Given the description of an element on the screen output the (x, y) to click on. 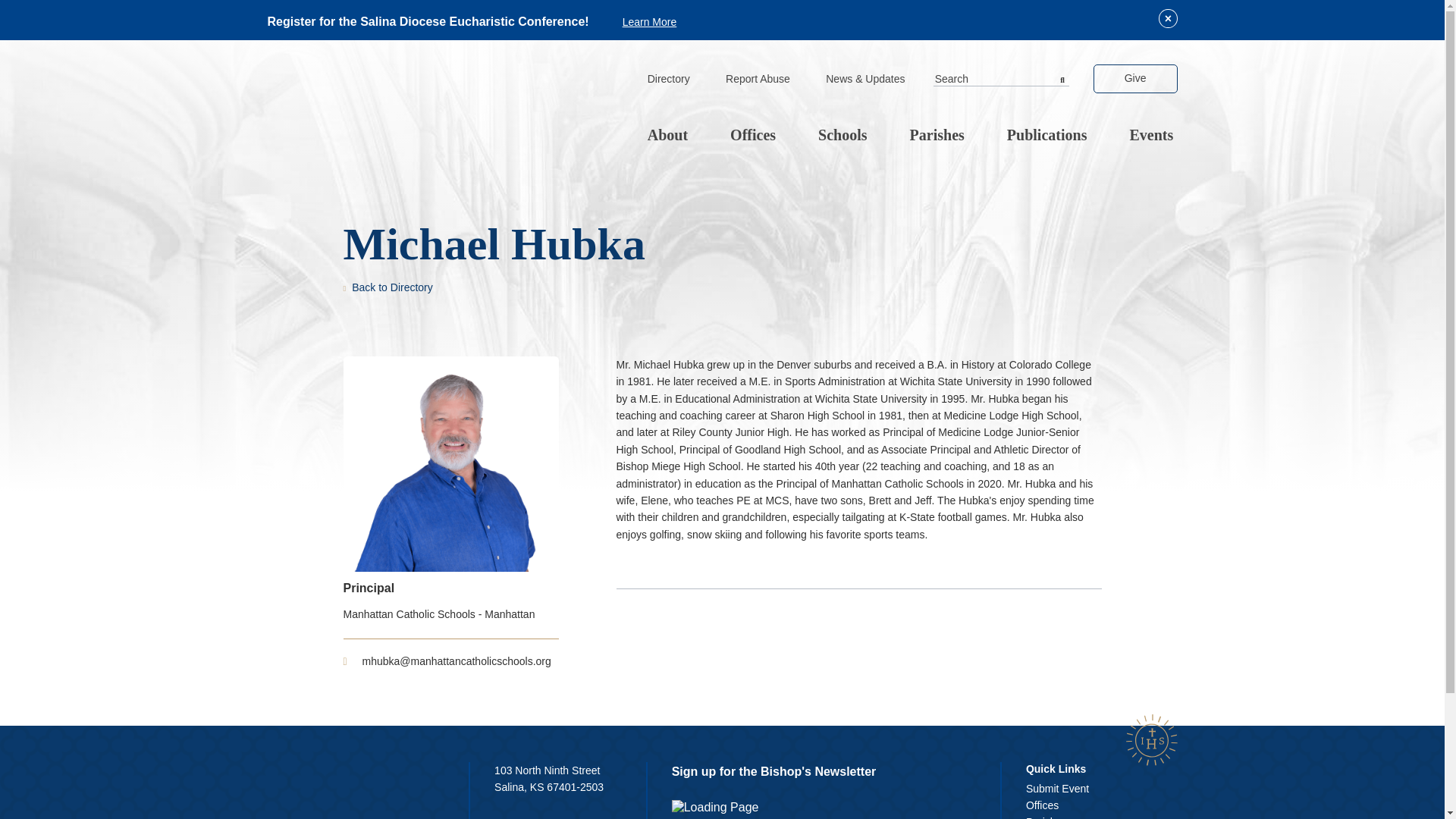
Report Abuse (757, 79)
Offices (752, 135)
Learn More (650, 21)
Give (1135, 78)
Directory (668, 79)
About (667, 135)
Group 53 Copy Created with Sketch. (1150, 739)
